Given the description of an element on the screen output the (x, y) to click on. 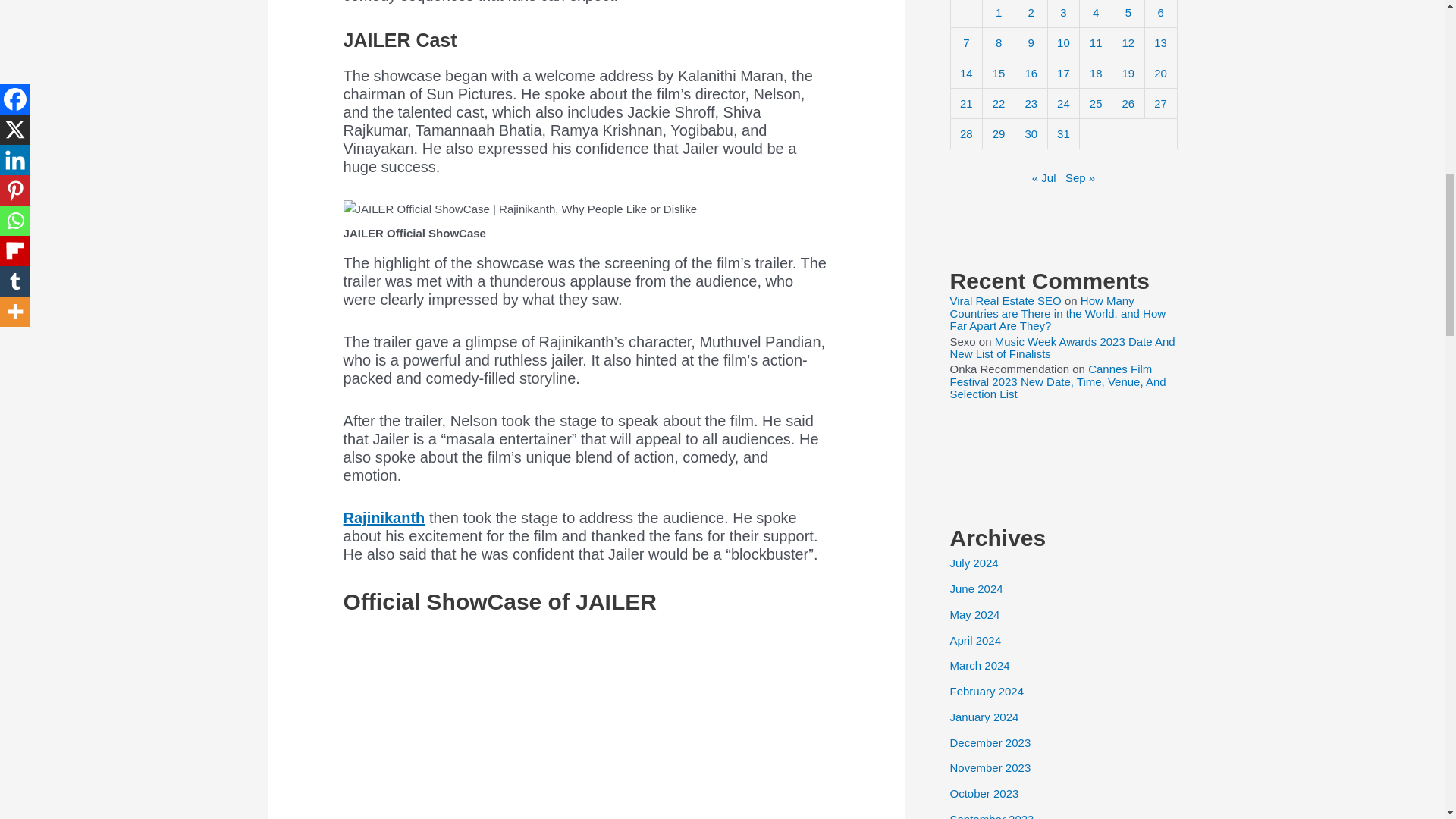
Rajinikanth (384, 517)
